Given the description of an element on the screen output the (x, y) to click on. 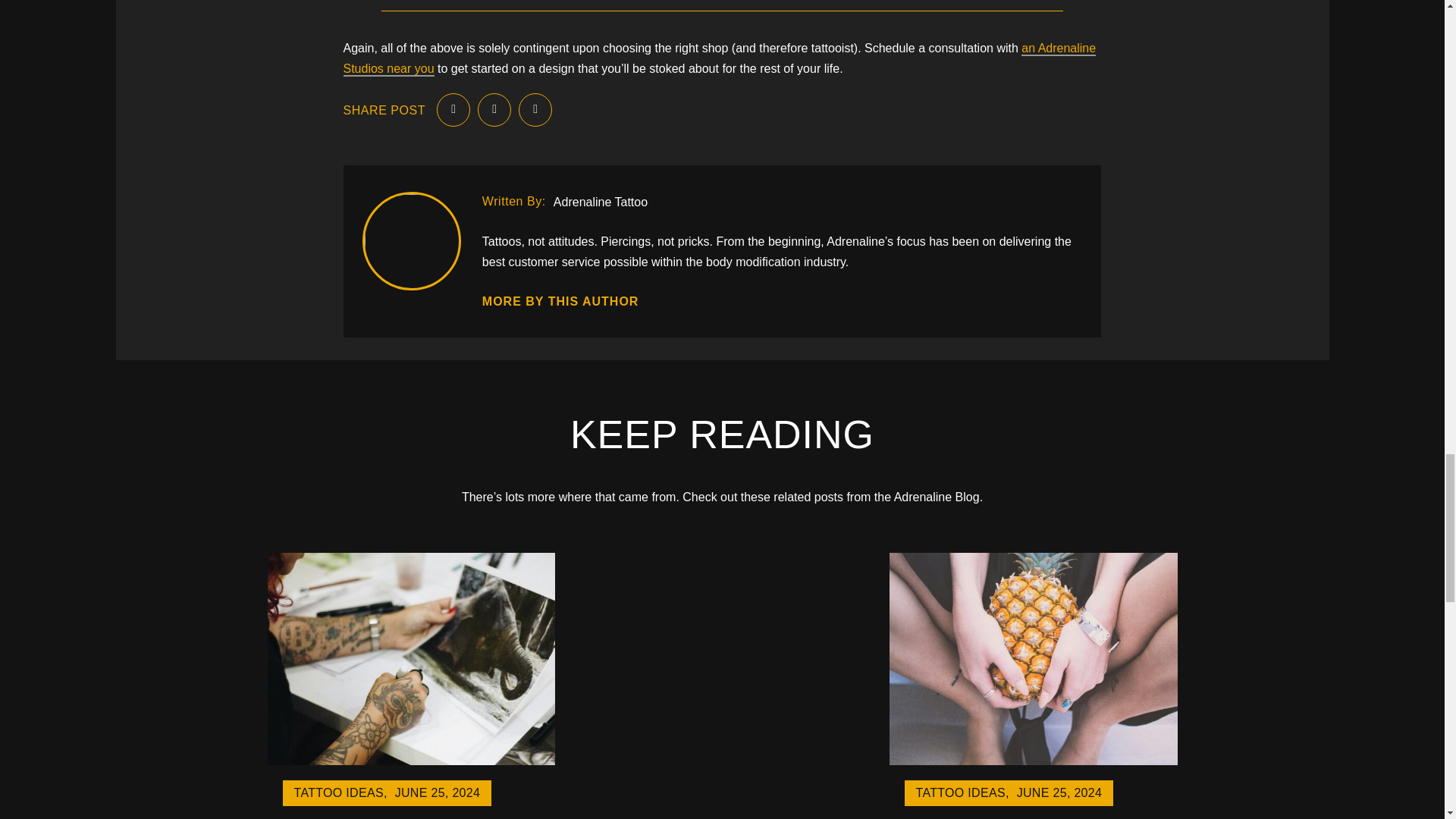
MORE BY THIS AUTHOR (560, 302)
Fruit Tattoo Ideas That Are Ripe for the Picking (1033, 757)
TATTOO IDEAS (960, 792)
TATTOO IDEAS (339, 792)
an Adrenaline Studios near you (719, 58)
Best Animal Tattoo Artists Near You (410, 757)
